Given the description of an element on the screen output the (x, y) to click on. 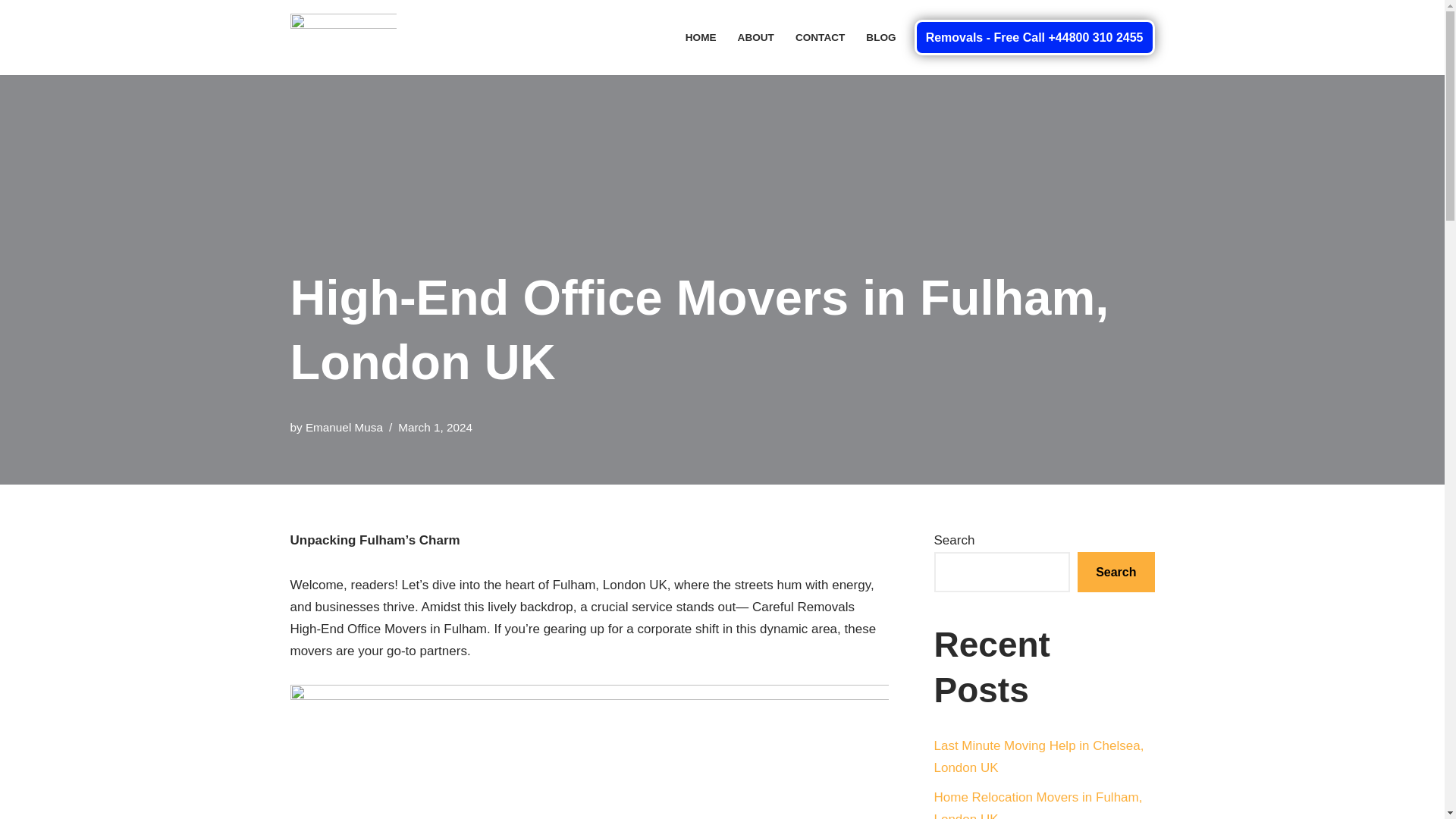
Emanuel Musa (343, 427)
Posts by Emanuel Musa (343, 427)
CONTACT (819, 36)
ABOUT (756, 36)
Skip to content (11, 31)
Home Relocation Movers in Fulham, London UK (1038, 804)
HOME (700, 36)
Search (1115, 572)
BLOG (880, 36)
Last Minute Moving Help in Chelsea, London UK (1039, 756)
